Given the description of an element on the screen output the (x, y) to click on. 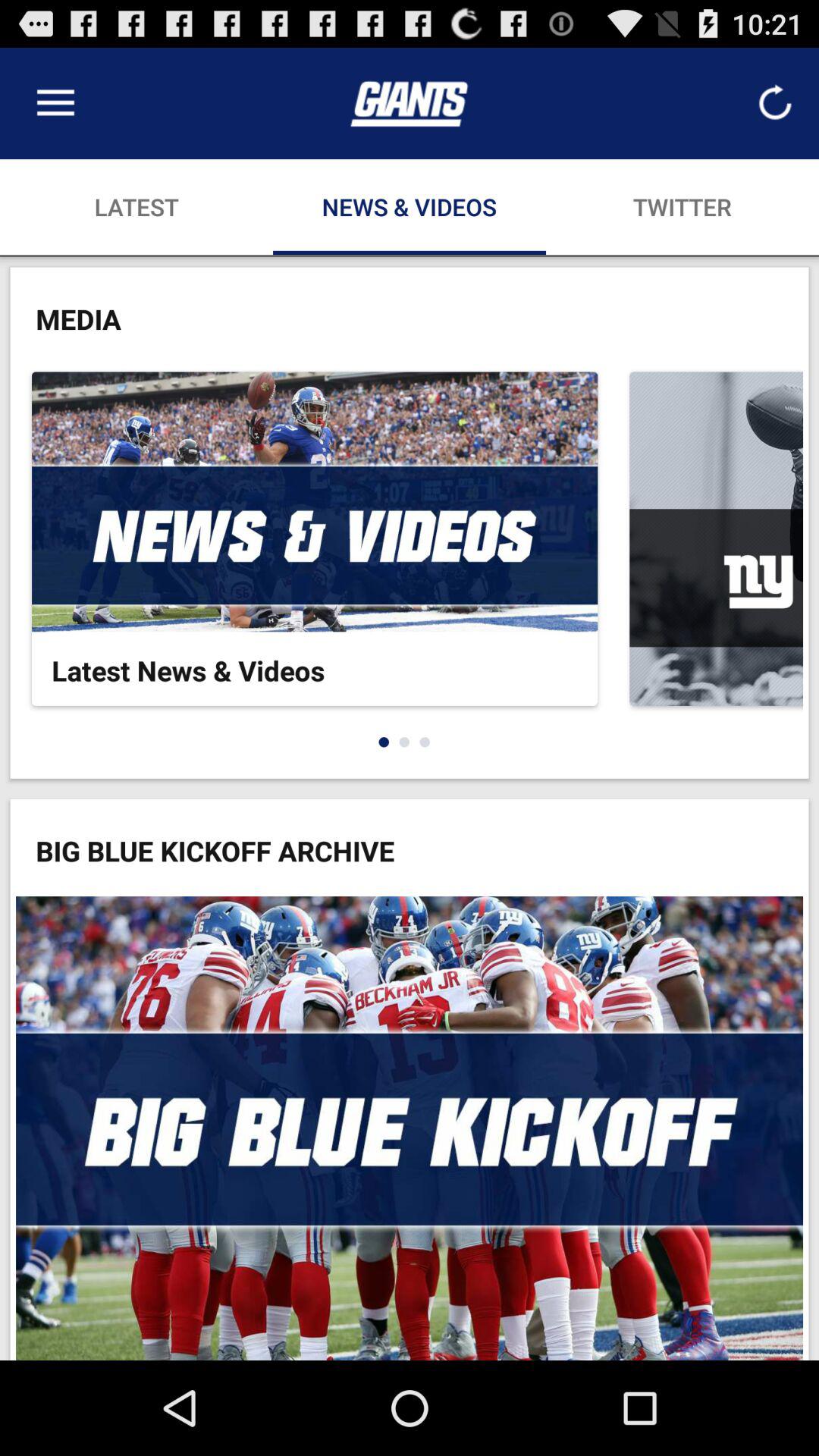
turn off item above latest (55, 103)
